Given the description of an element on the screen output the (x, y) to click on. 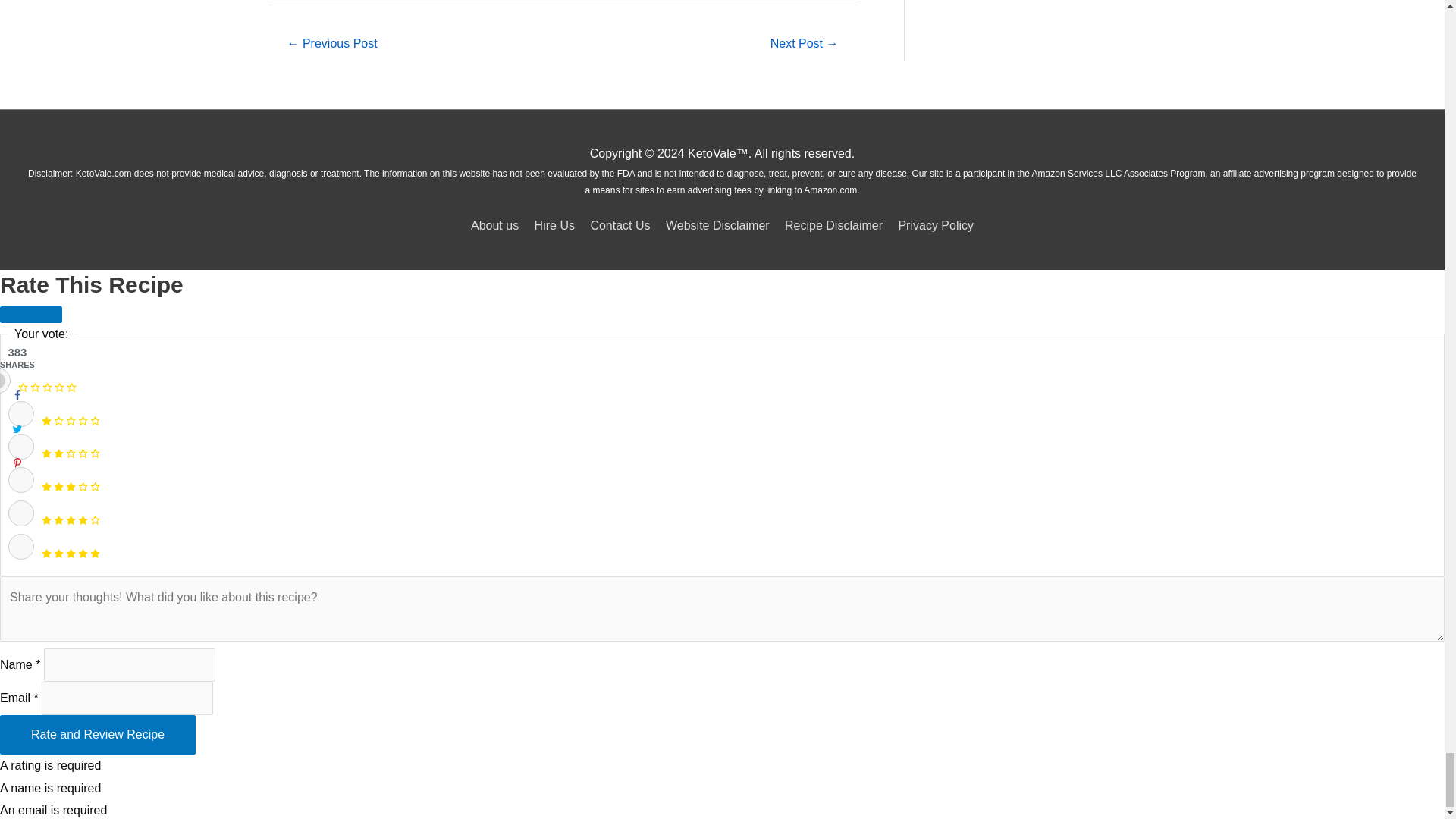
4 (20, 513)
1 (20, 413)
3 (20, 479)
The Carnivore Diet: Should You Try It? (804, 44)
2 (20, 446)
5 (20, 546)
0 (5, 380)
